Given the description of an element on the screen output the (x, y) to click on. 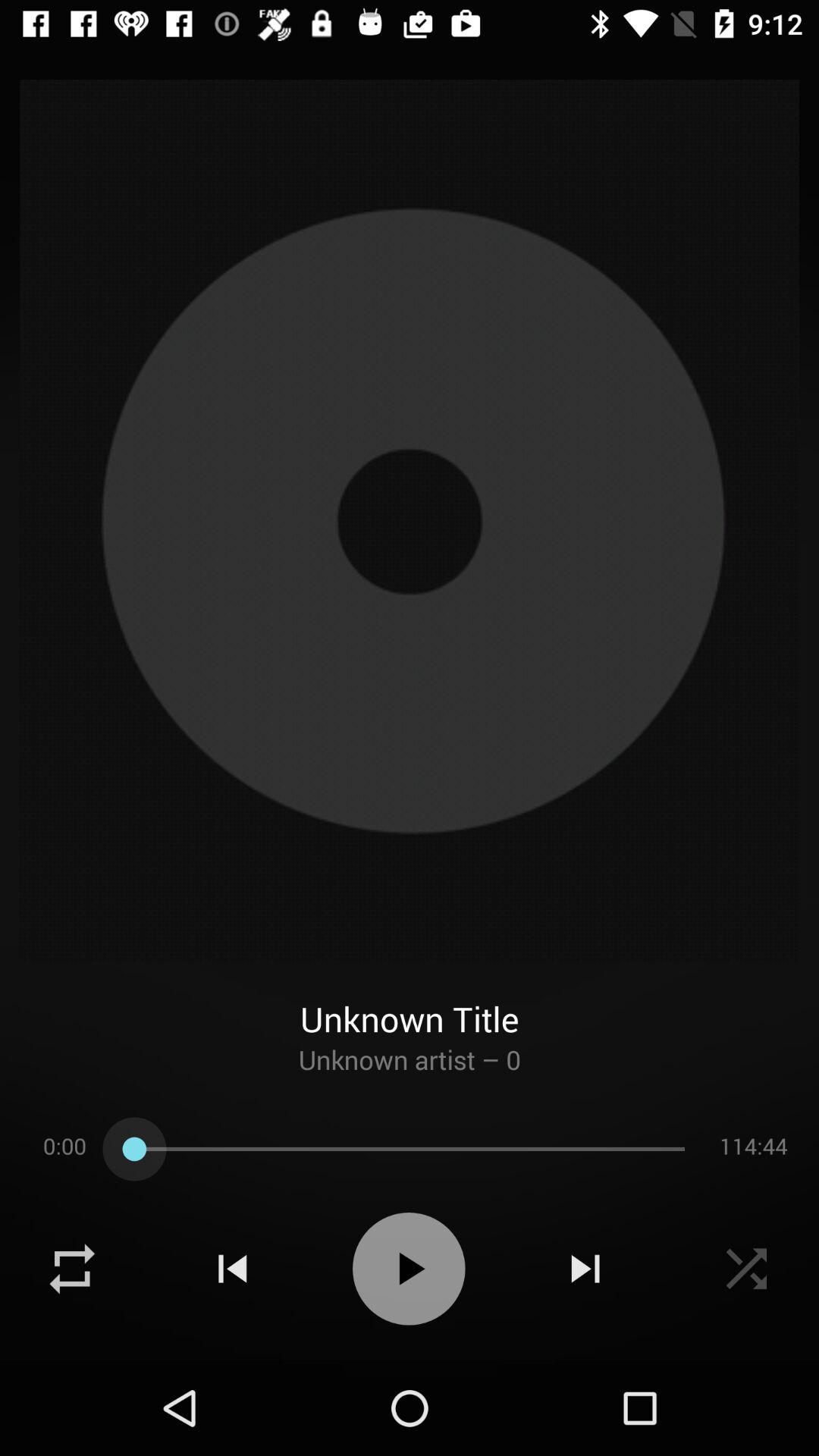
play button (408, 1268)
